Given the description of an element on the screen output the (x, y) to click on. 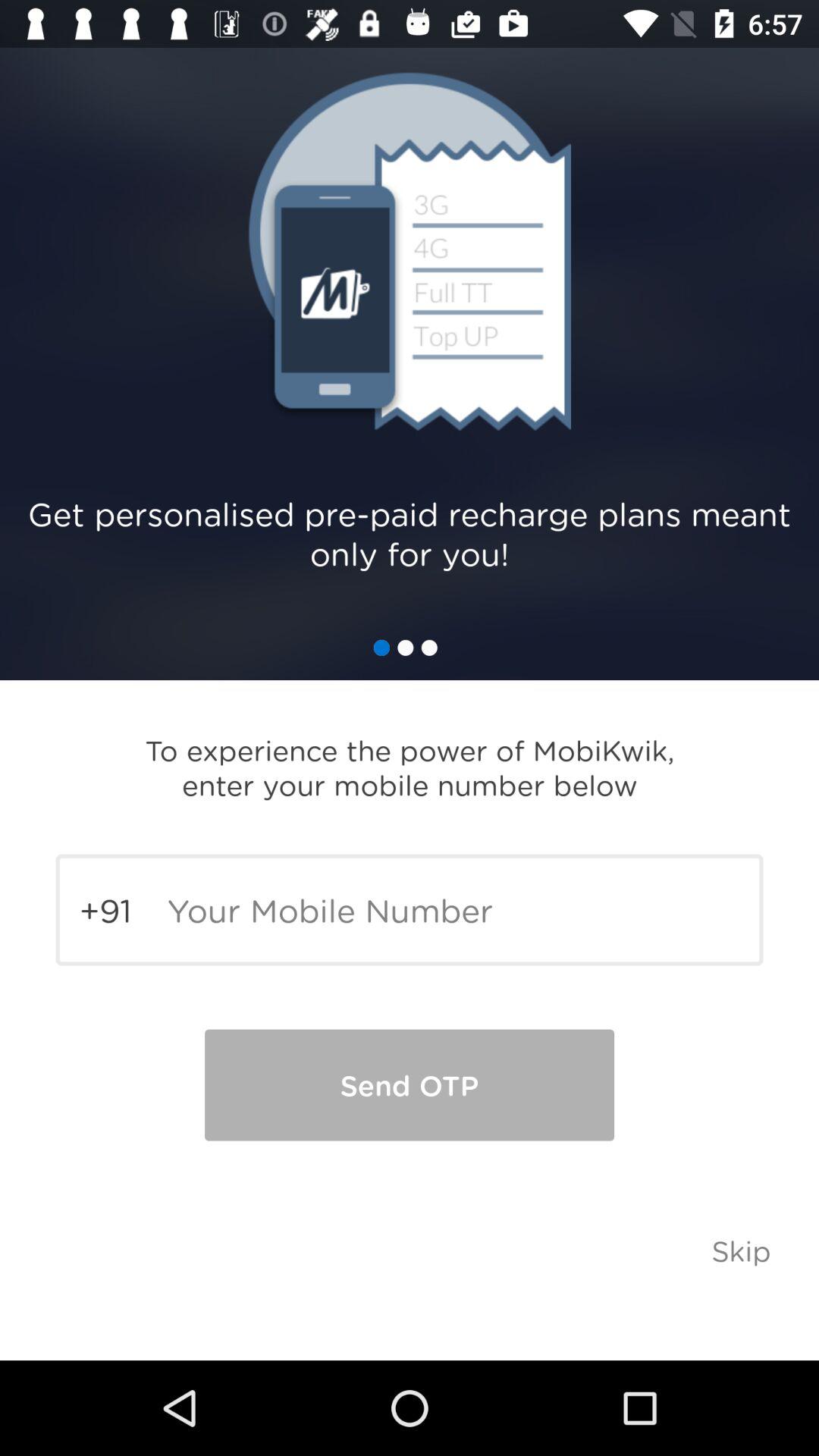
flip to send otp item (409, 1084)
